Given the description of an element on the screen output the (x, y) to click on. 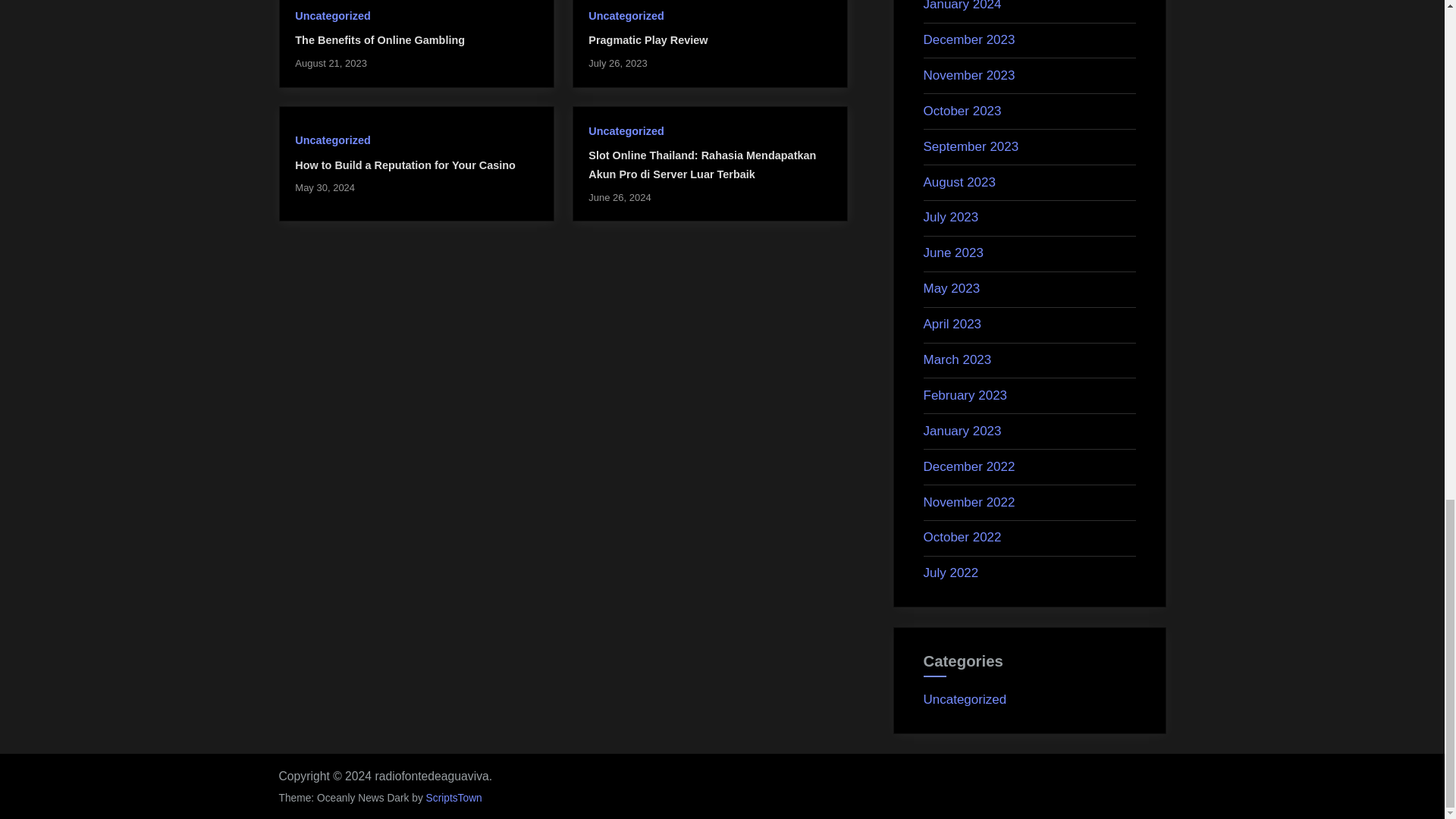
The Benefits of Online Gambling (379, 39)
December 2023 (968, 39)
Uncategorized (332, 140)
How to Build a Reputation for Your Casino (405, 164)
October 2023 (962, 110)
Uncategorized (625, 131)
November 2023 (968, 74)
September 2023 (971, 146)
January 2024 (962, 5)
